Given the description of an element on the screen output the (x, y) to click on. 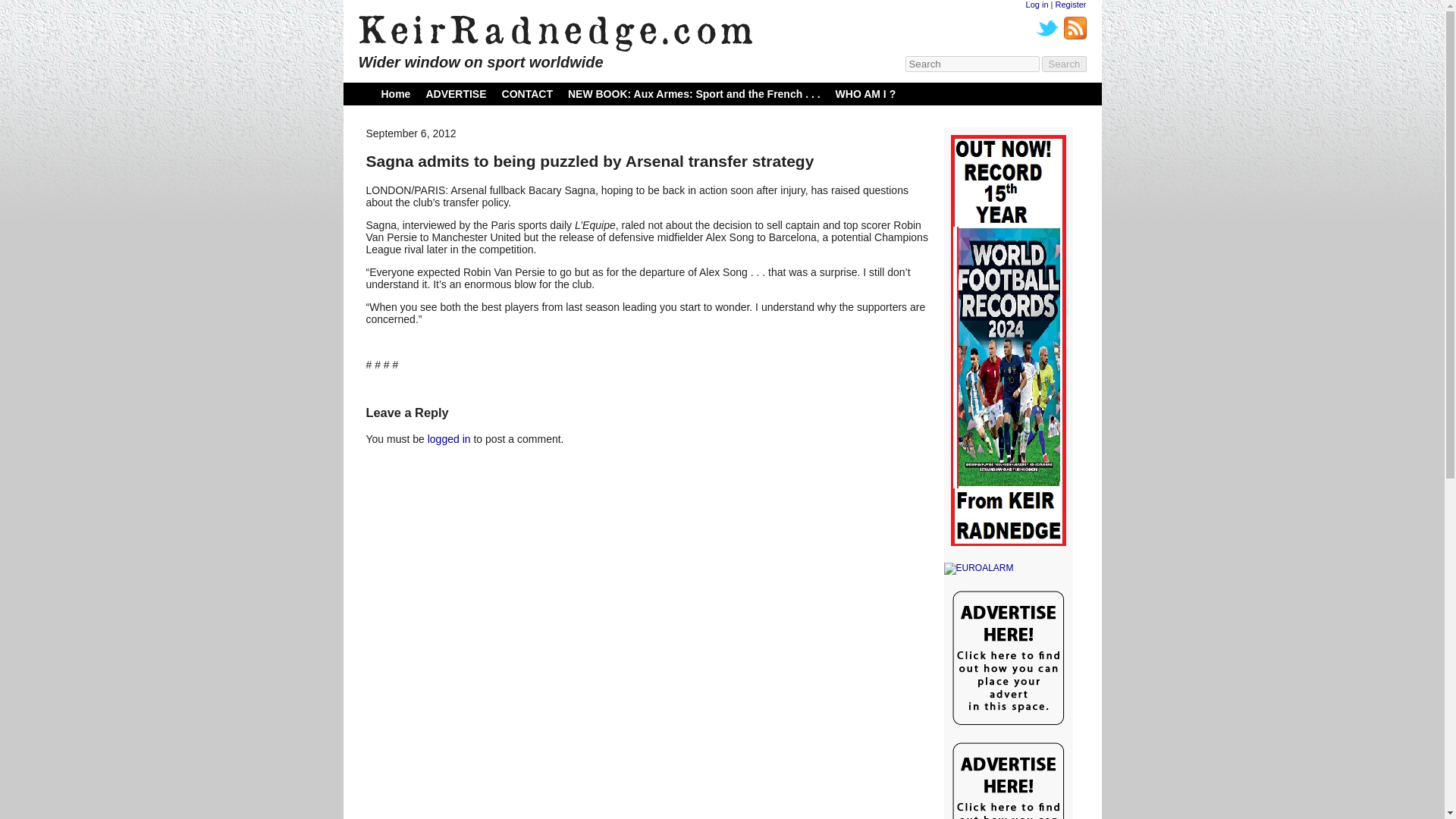
Home (395, 93)
Search (1064, 64)
Log in (1037, 4)
WHO AM I ? (865, 93)
logged in (449, 439)
ADVERTISE (455, 93)
NEW BOOK: Aux Armes: Sport and the French . . . (694, 93)
Register (1070, 4)
CONTACT (527, 93)
EUROALARM (1007, 568)
